Given the description of an element on the screen output the (x, y) to click on. 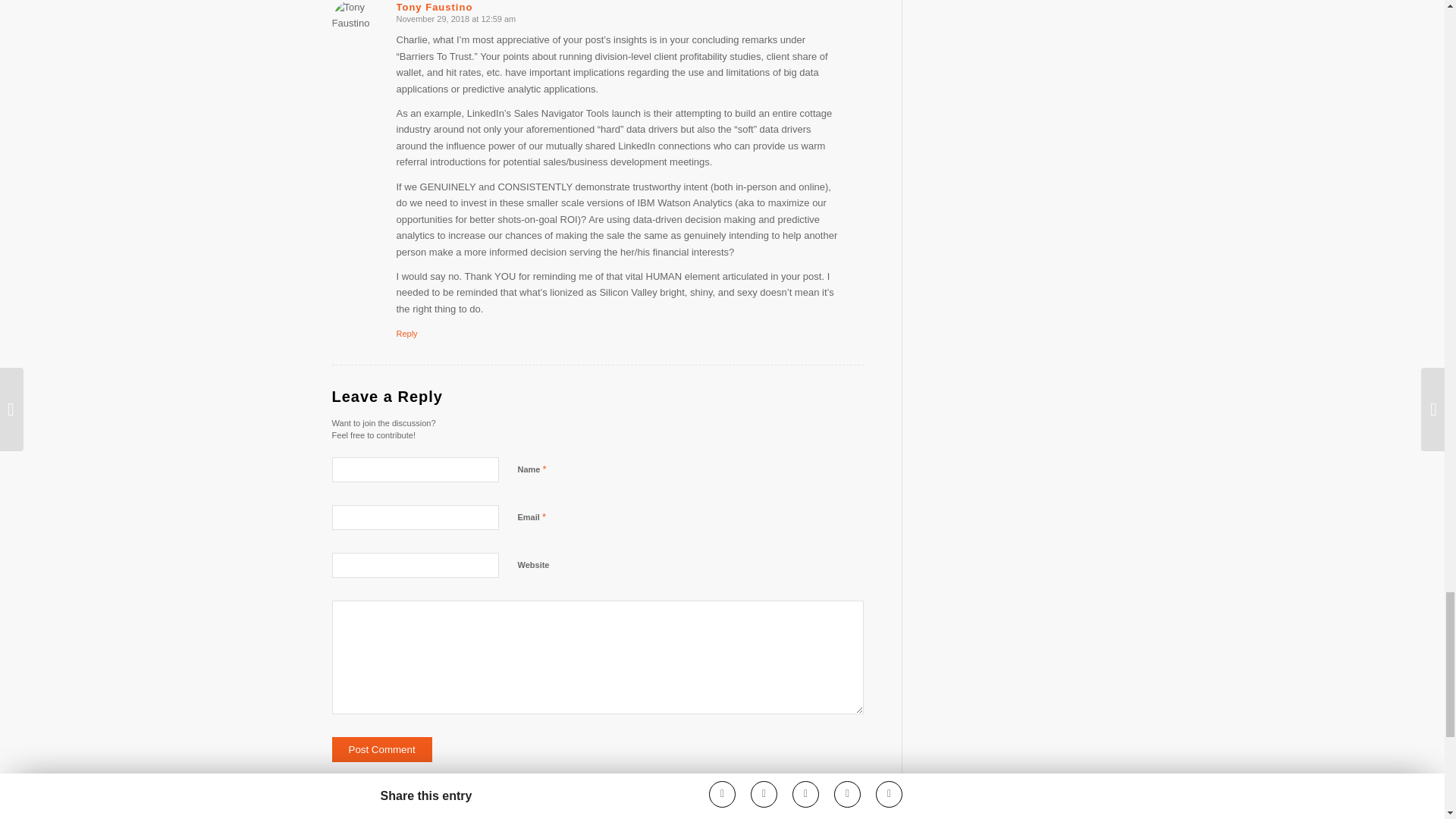
Post Comment (381, 749)
